Given the description of an element on the screen output the (x, y) to click on. 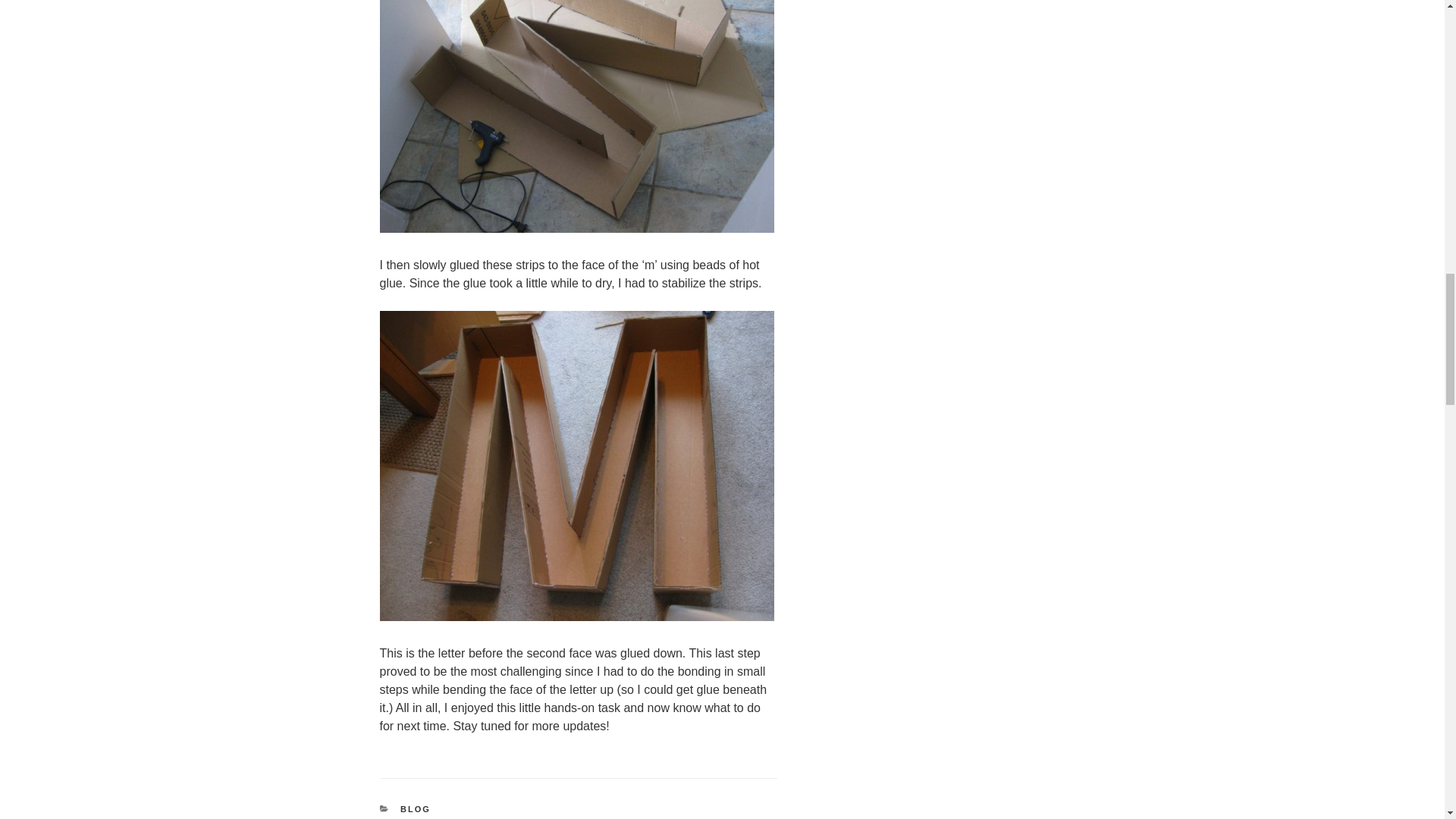
Letter 'M' (575, 465)
Letter 'M' (575, 116)
BLOG (415, 809)
